Given the description of an element on the screen output the (x, y) to click on. 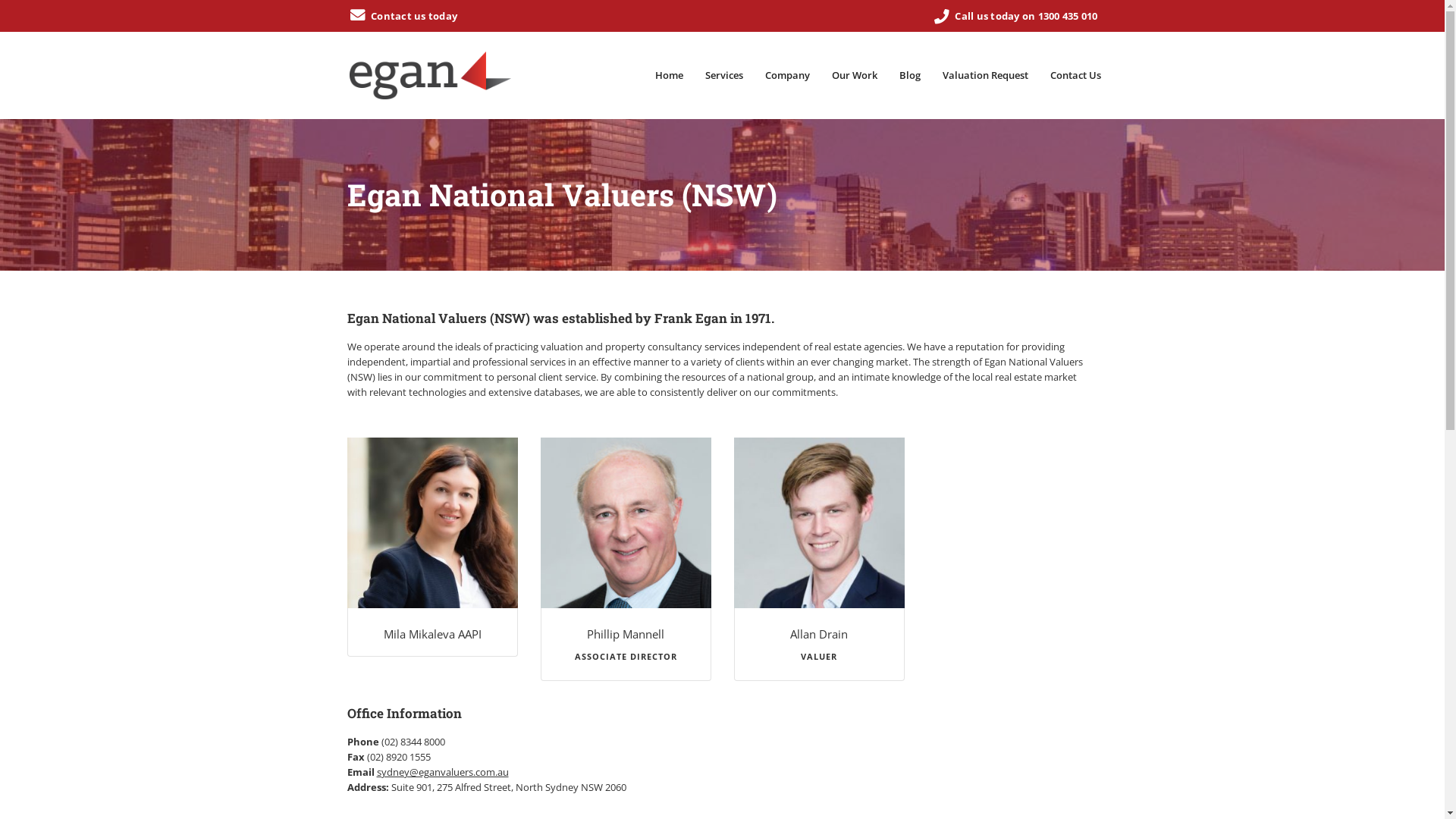
Contact Us Element type: text (1075, 75)
Services Element type: text (723, 75)
Valuation Request Element type: text (985, 75)
Company Element type: text (787, 75)
Call us today on 1300 435 010 Element type: text (1014, 15)
Our Work Element type: text (854, 75)
Mila Mikaleva AAPI Element type: text (432, 633)
sydney@eganvaluers.com.au Element type: text (442, 771)
Home Element type: text (668, 75)
Contact us today Element type: text (402, 15)
Allan Drain Element type: text (818, 633)
Phillip Mannell Element type: text (625, 633)
Blog Element type: text (909, 75)
